Given the description of an element on the screen output the (x, y) to click on. 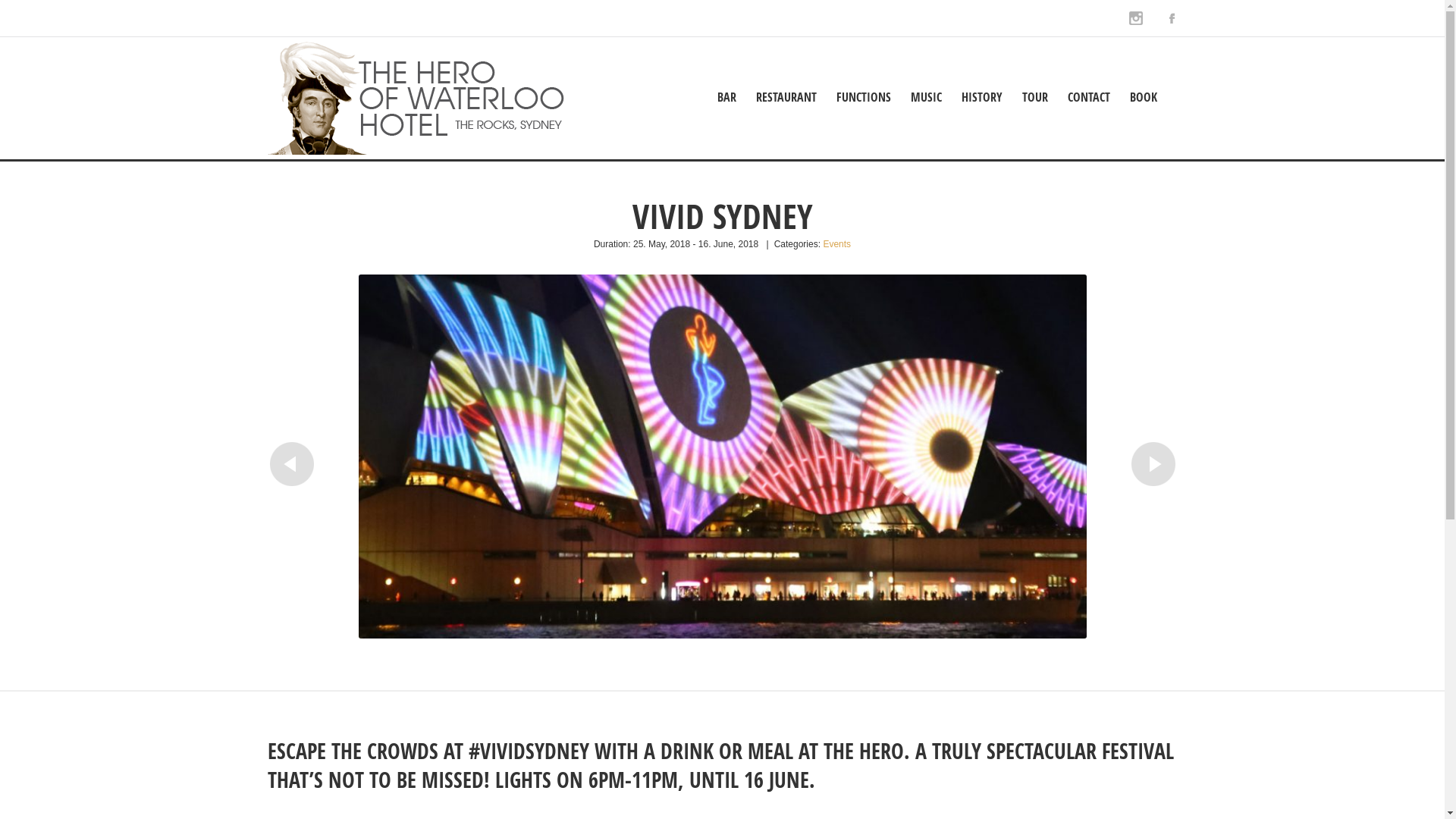
BOOK Element type: text (1143, 96)
MUSIC Element type: text (925, 96)
Events Element type: text (836, 243)
TOUR Element type: text (1035, 96)
BAR Element type: text (726, 96)
HISTORY Element type: text (981, 96)
RESTAURANT Element type: text (786, 96)
CONTACT Element type: text (1088, 96)
FUNCTIONS Element type: text (863, 96)
